Given the description of an element on the screen output the (x, y) to click on. 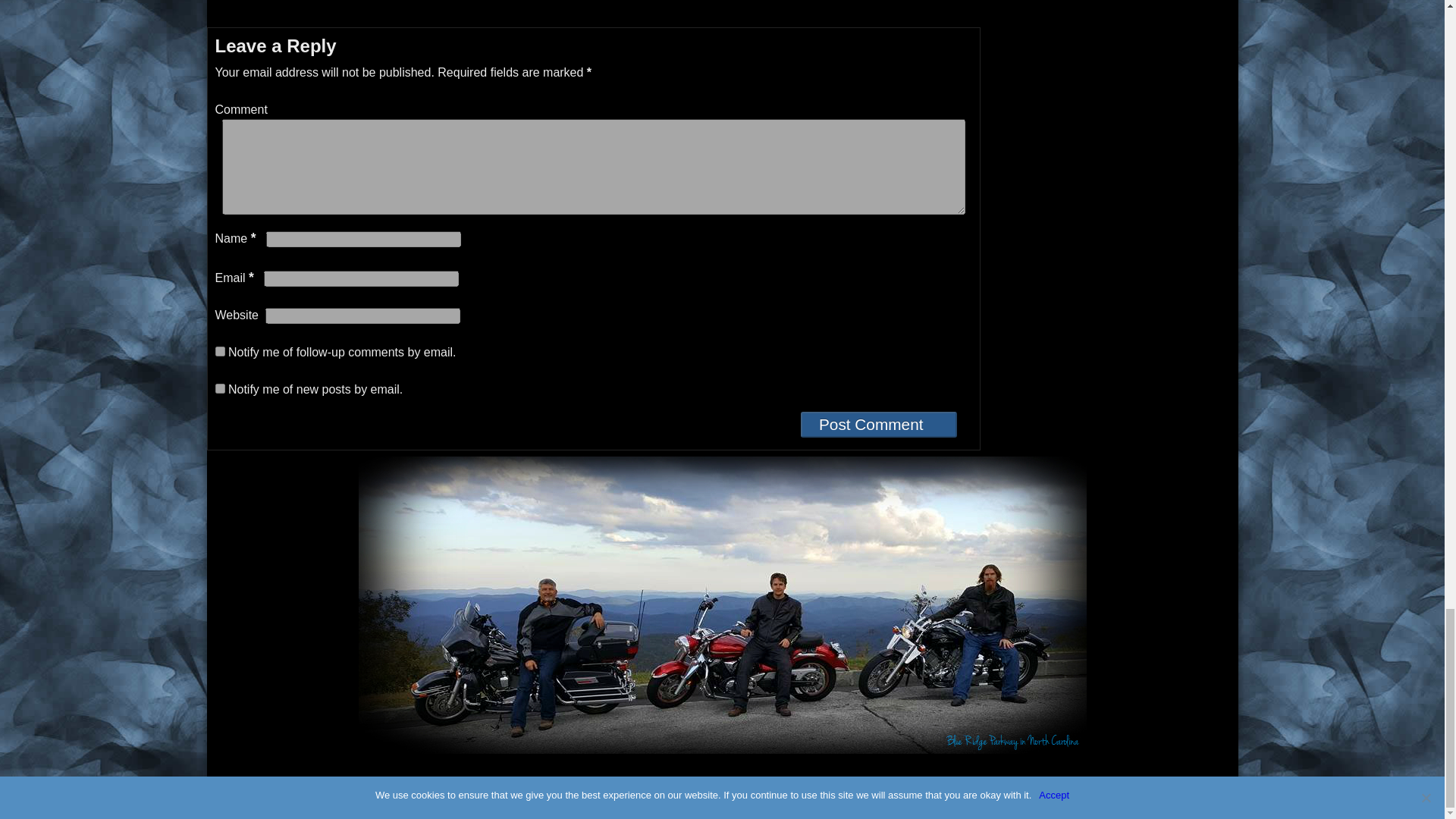
Awakened Warriors (303, 804)
subscribe (220, 388)
subscribe (220, 351)
Post Comment (878, 424)
Post Comment (878, 424)
